Given the description of an element on the screen output the (x, y) to click on. 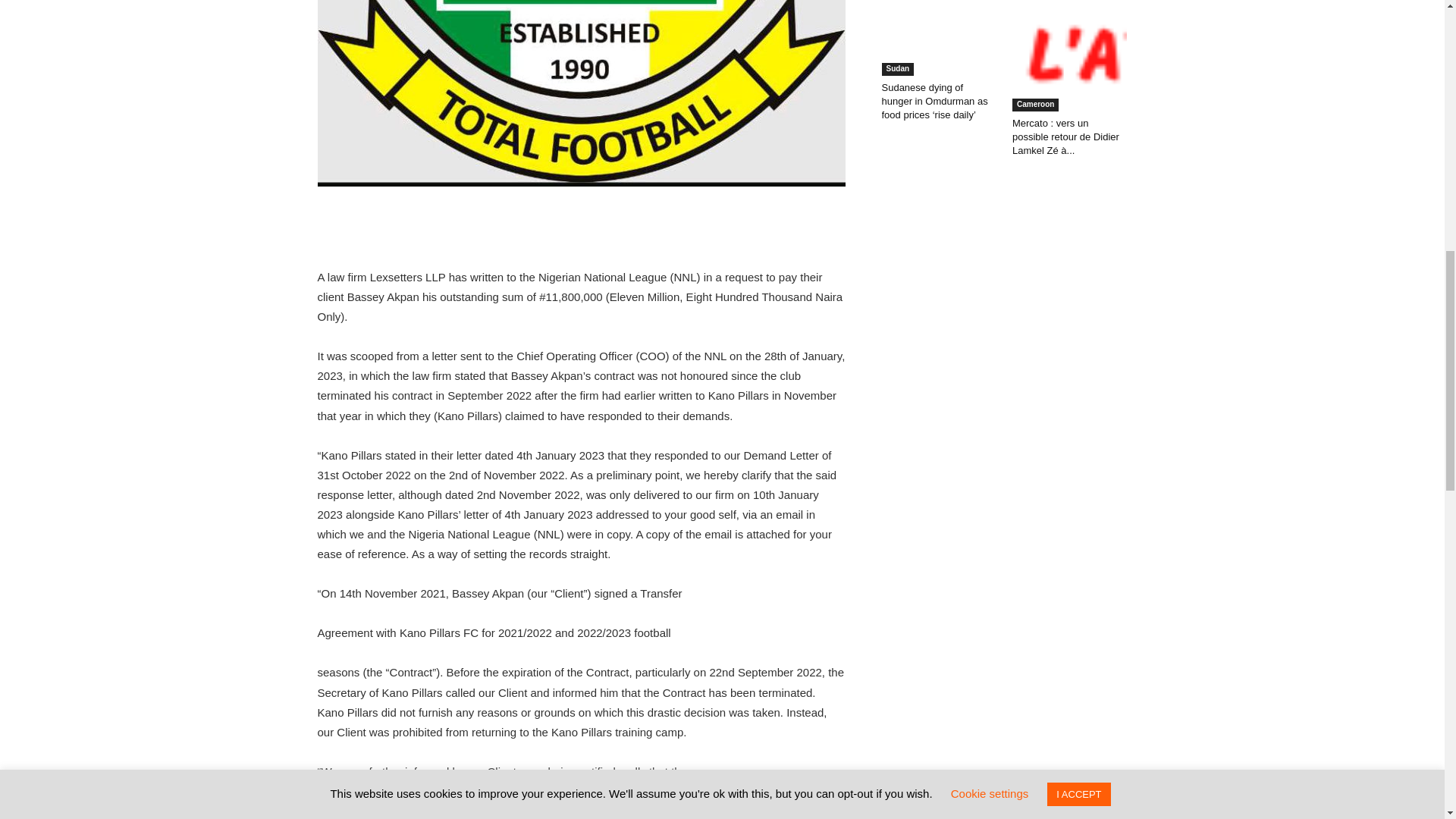
Advertisement (580, 228)
IMG-20230305-WA0006 (580, 93)
